Given the description of an element on the screen output the (x, y) to click on. 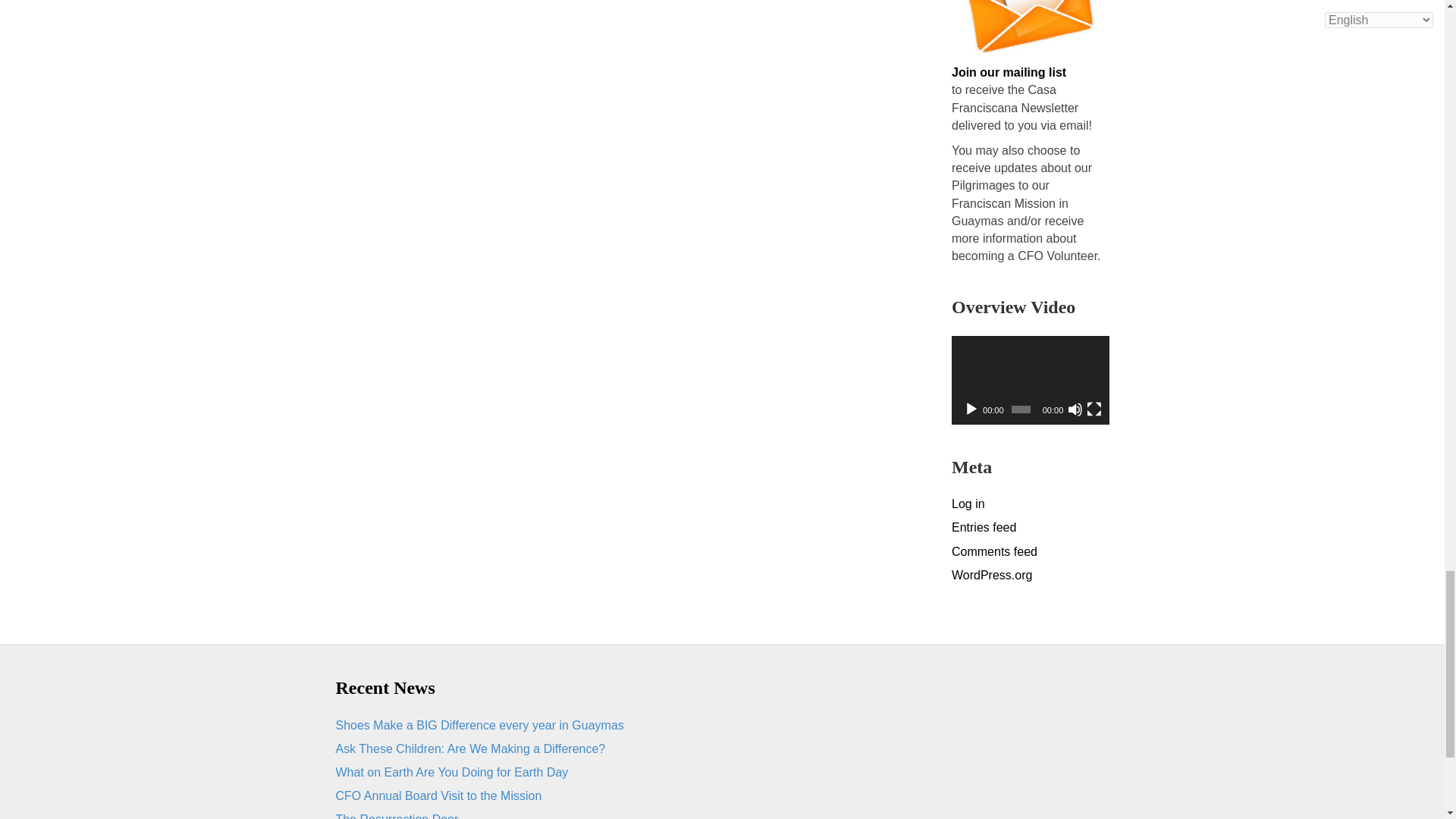
Fullscreen (1094, 409)
Play (970, 409)
Mute (1075, 409)
